Given the description of an element on the screen output the (x, y) to click on. 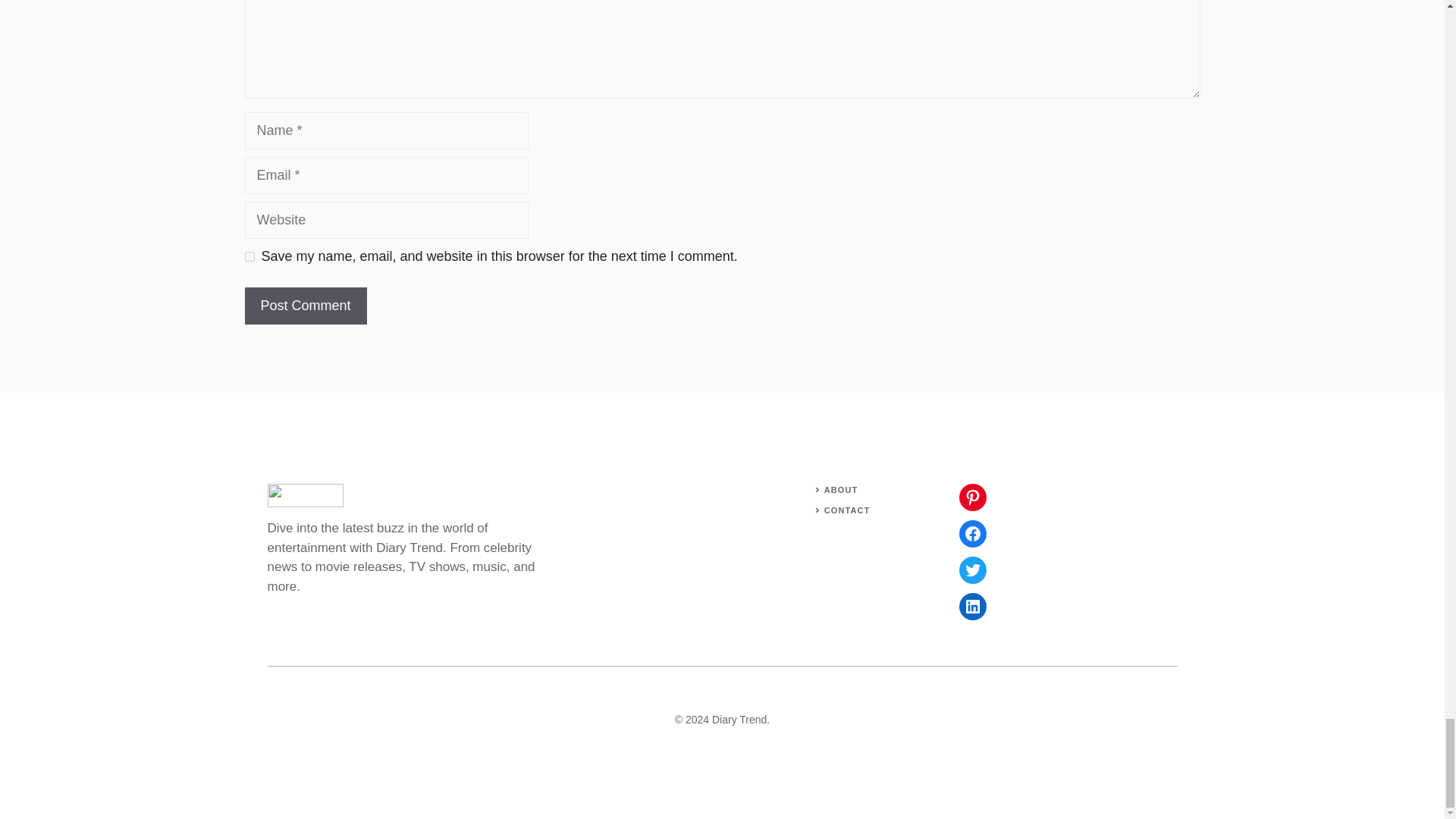
ABOUT (841, 489)
Twitter (971, 569)
LinkedIn (971, 605)
Pinterest (971, 497)
Post Comment (305, 305)
Post Comment (305, 305)
Facebook (971, 533)
CONTACT (847, 510)
Diary Trend (739, 719)
yes (248, 256)
